Given the description of an element on the screen output the (x, y) to click on. 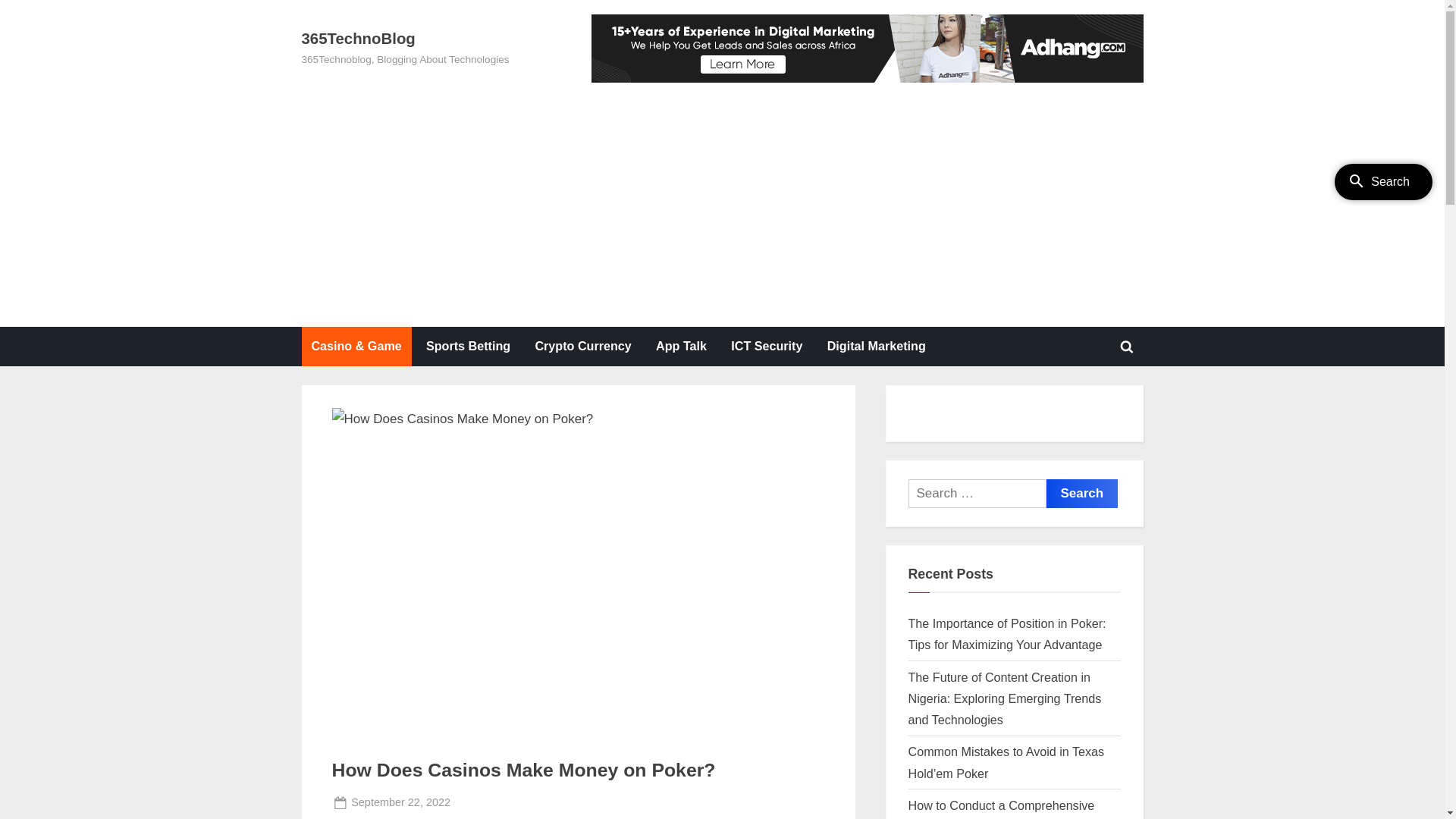
365TechnoBlog Element type: text (358, 38)
Search Element type: text (1082, 493)
By
365technoblog Element type: text (509, 802)
App Talk Element type: text (681, 346)
ICT Security Element type: text (766, 346)
Advertisement Element type: hover (721, 196)
Crypto Currency Element type: text (583, 346)
Digital Marketing Element type: text (876, 346)
Toggle search form Element type: text (1126, 346)
Sports Betting Element type: text (468, 346)
Posted on
September 22, 2022 Element type: text (400, 802)
Digital Marketing Packages in Africa Element type: hover (867, 48)
Casino & Game Element type: text (356, 346)
